Given the description of an element on the screen output the (x, y) to click on. 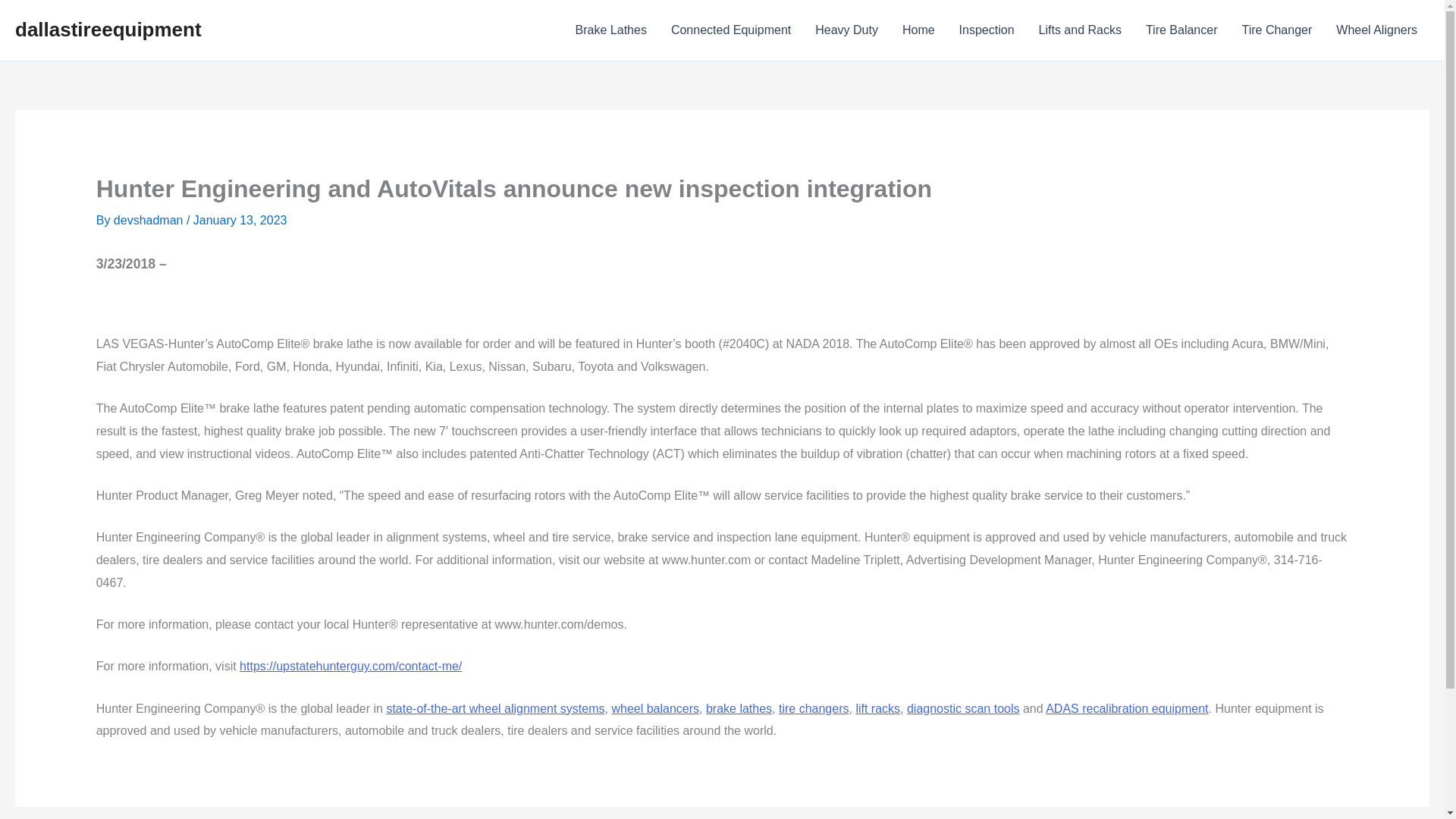
devshadman (149, 219)
Home (918, 30)
Heavy Duty (846, 30)
Connected Equipment (731, 30)
state-of-the-art wheel alignment systems (494, 707)
wheel balancers (654, 707)
Wheel Aligners (1376, 30)
dallastireequipment (108, 29)
Tire Changer (1277, 30)
Brake Lathes (611, 30)
